Given the description of an element on the screen output the (x, y) to click on. 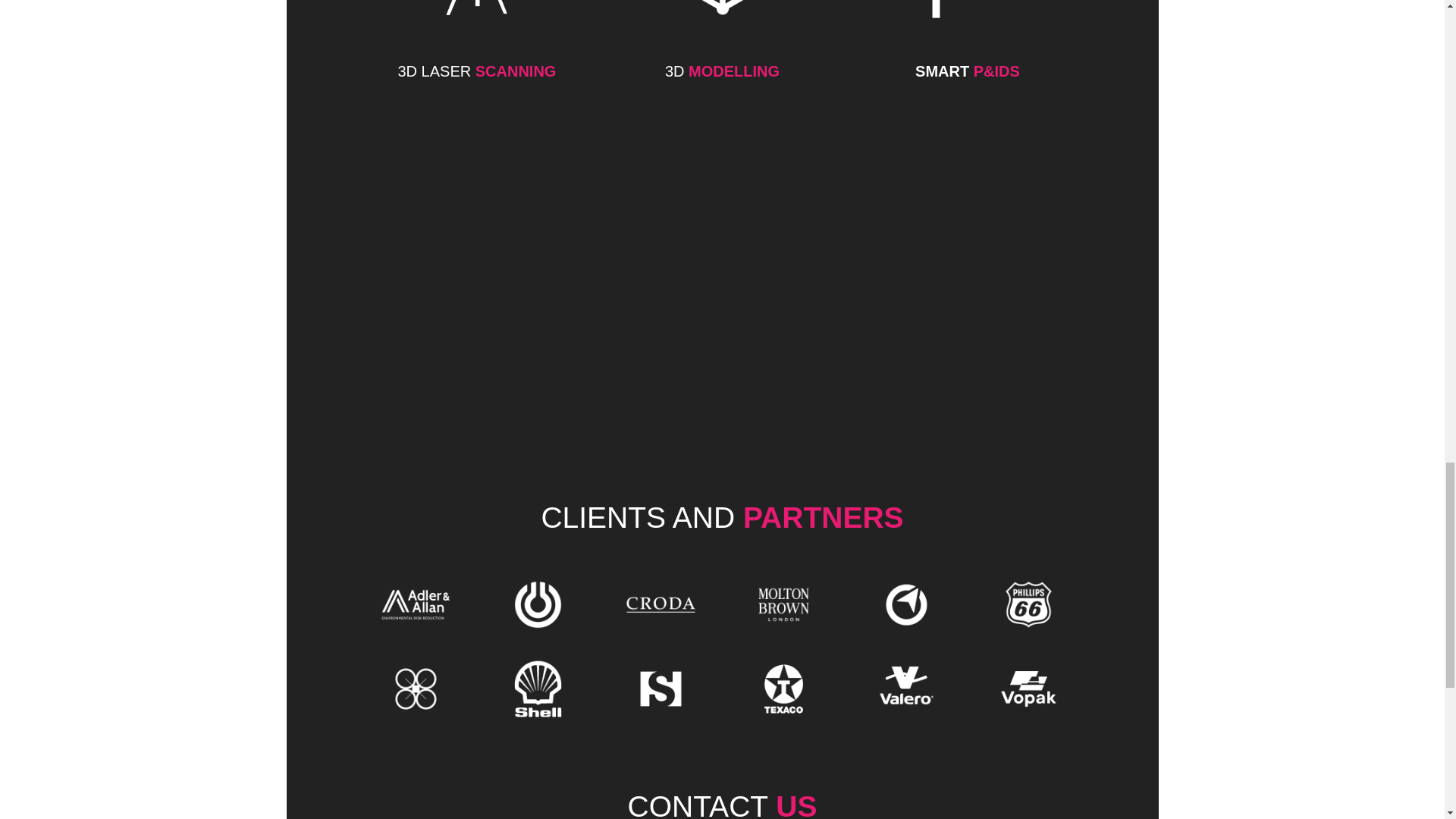
3d-white (721, 22)
laser-white (476, 22)
pid-white (967, 22)
ADLER (414, 604)
